Given the description of an element on the screen output the (x, y) to click on. 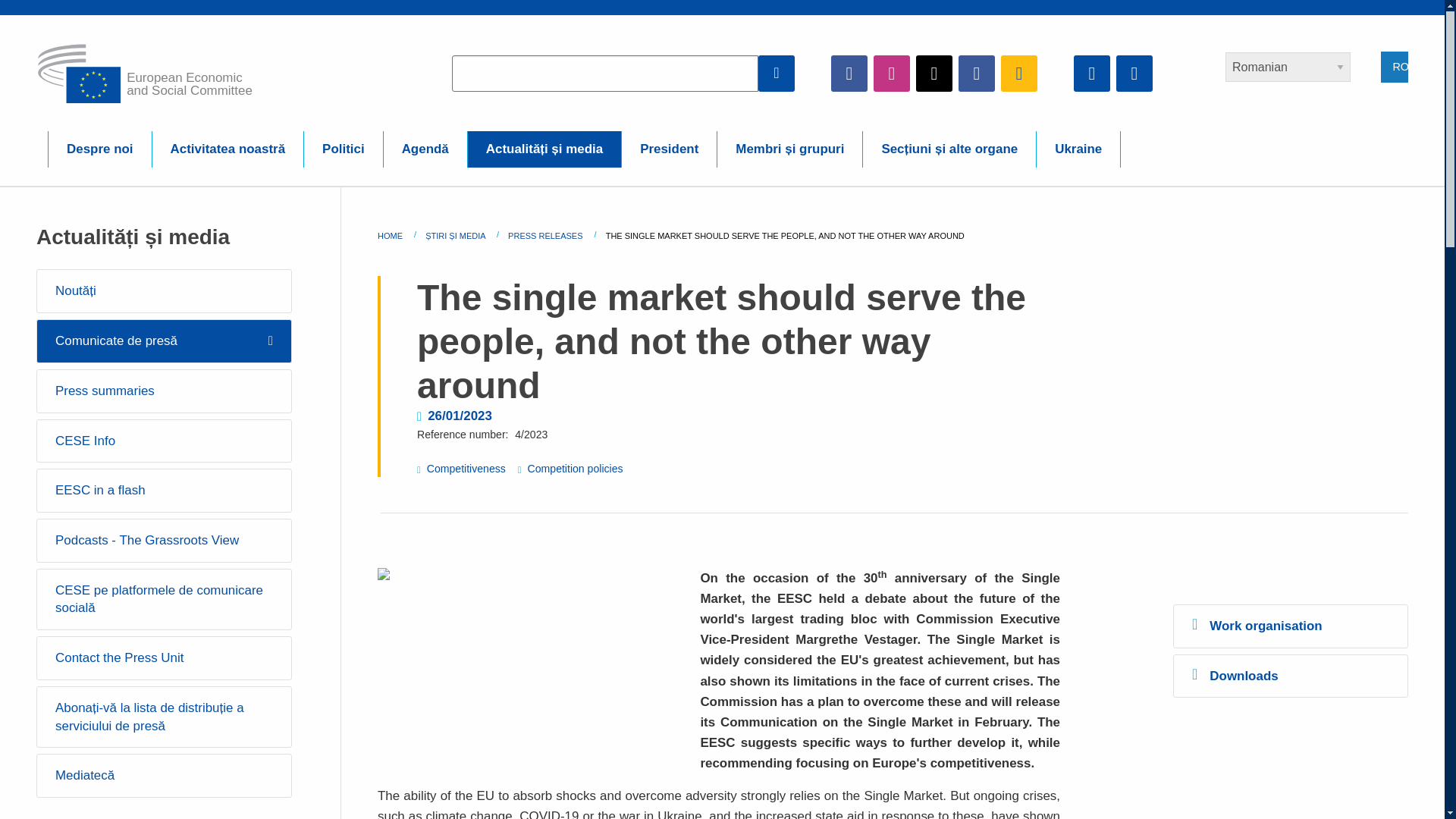
Apply (776, 72)
